Given the description of an element on the screen output the (x, y) to click on. 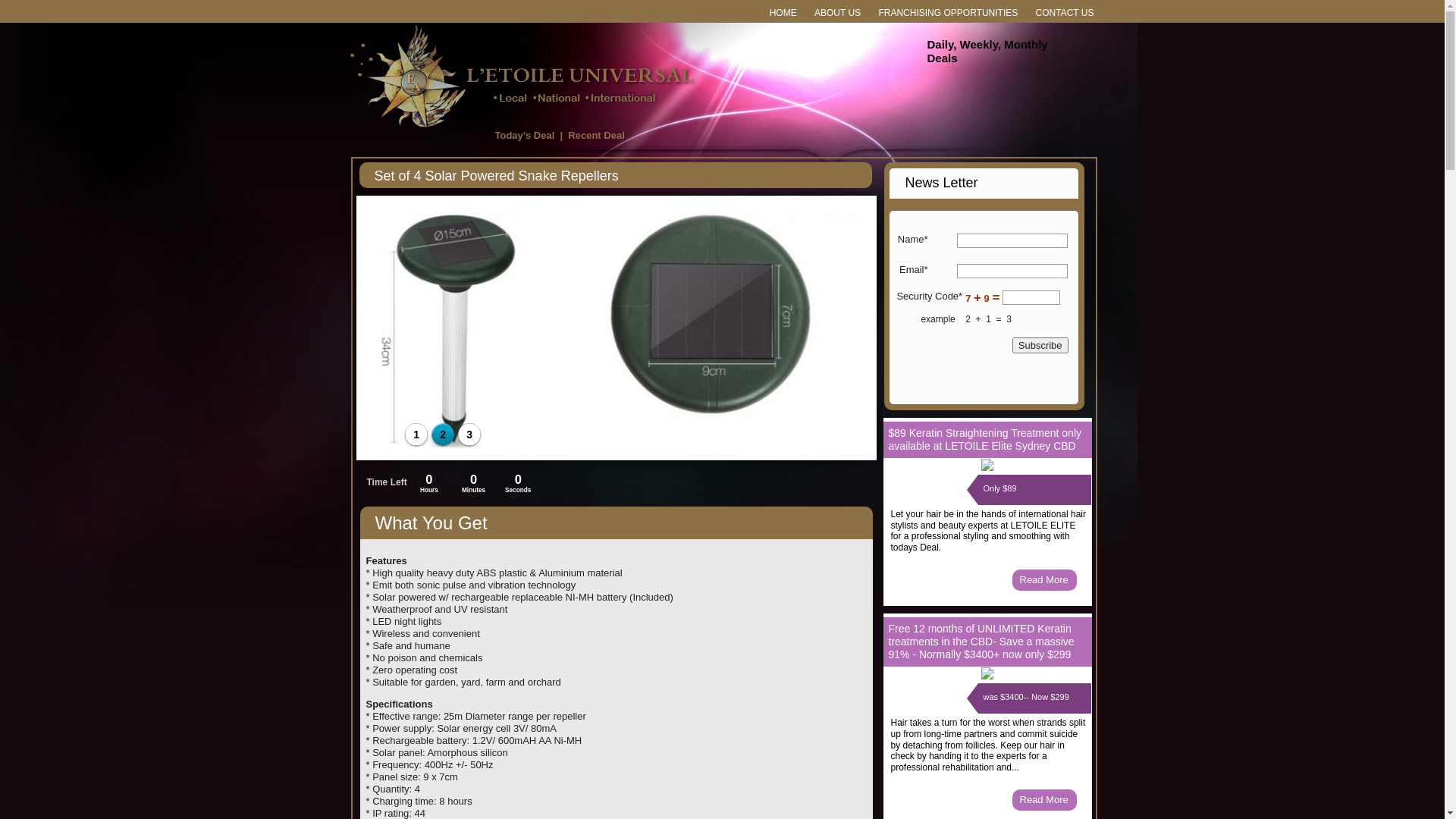
Read More Element type: text (1043, 579)
Recent Deal Element type: text (595, 135)
FRANCHISING OPPORTUNITIES Element type: text (947, 13)
CONTACT US Element type: text (1064, 13)
Read More Element type: text (1043, 799)
ABOUT US Element type: text (837, 13)
1 Element type: text (415, 434)
HOME Element type: text (783, 13)
3 Element type: text (469, 434)
2 Element type: text (442, 434)
